Given the description of an element on the screen output the (x, y) to click on. 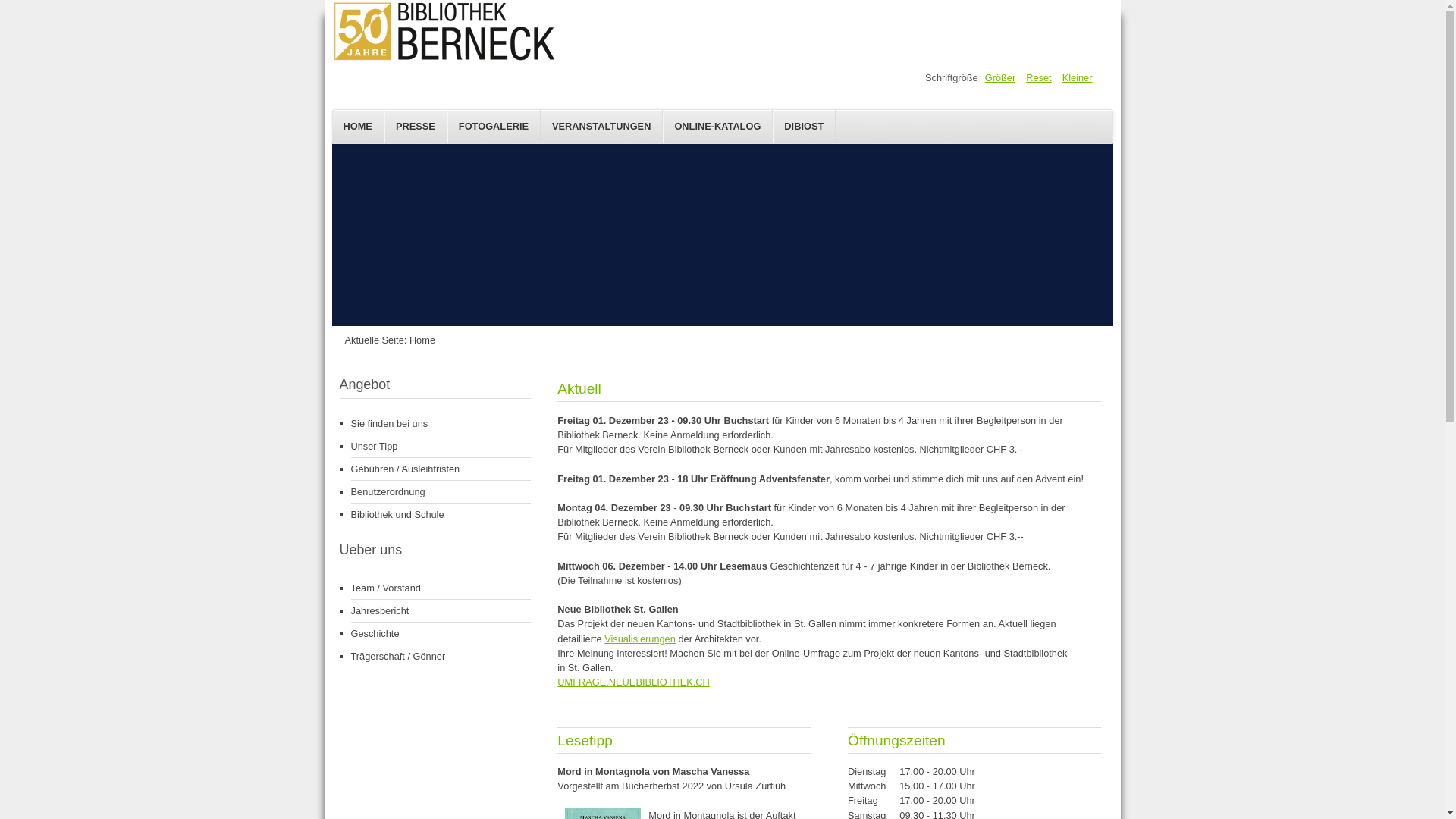
Reset Element type: text (1038, 77)
Benutzerordnung Element type: text (440, 491)
Visualisierungen Element type: text (639, 638)
Lesetipp Element type: text (584, 740)
Bibliothek und Schule Element type: text (440, 514)
DIBIOST Element type: text (803, 125)
HOME Element type: text (358, 126)
Kleiner Element type: text (1077, 77)
Sie finden bei uns Element type: text (440, 423)
Jahresbericht Element type: text (440, 610)
VERANSTALTUNGEN Element type: text (601, 126)
Team / Vorstand Element type: text (440, 588)
FOTOGALERIE Element type: text (493, 126)
Aktuell Element type: text (579, 388)
Unser Tipp Element type: text (440, 446)
UMFRAGE.NEUEBIBLIOTHEK.CH Element type: text (633, 681)
PRESSE Element type: text (415, 126)
Geschichte Element type: text (440, 633)
ONLINE-KATALOG Element type: text (717, 126)
